Given the description of an element on the screen output the (x, y) to click on. 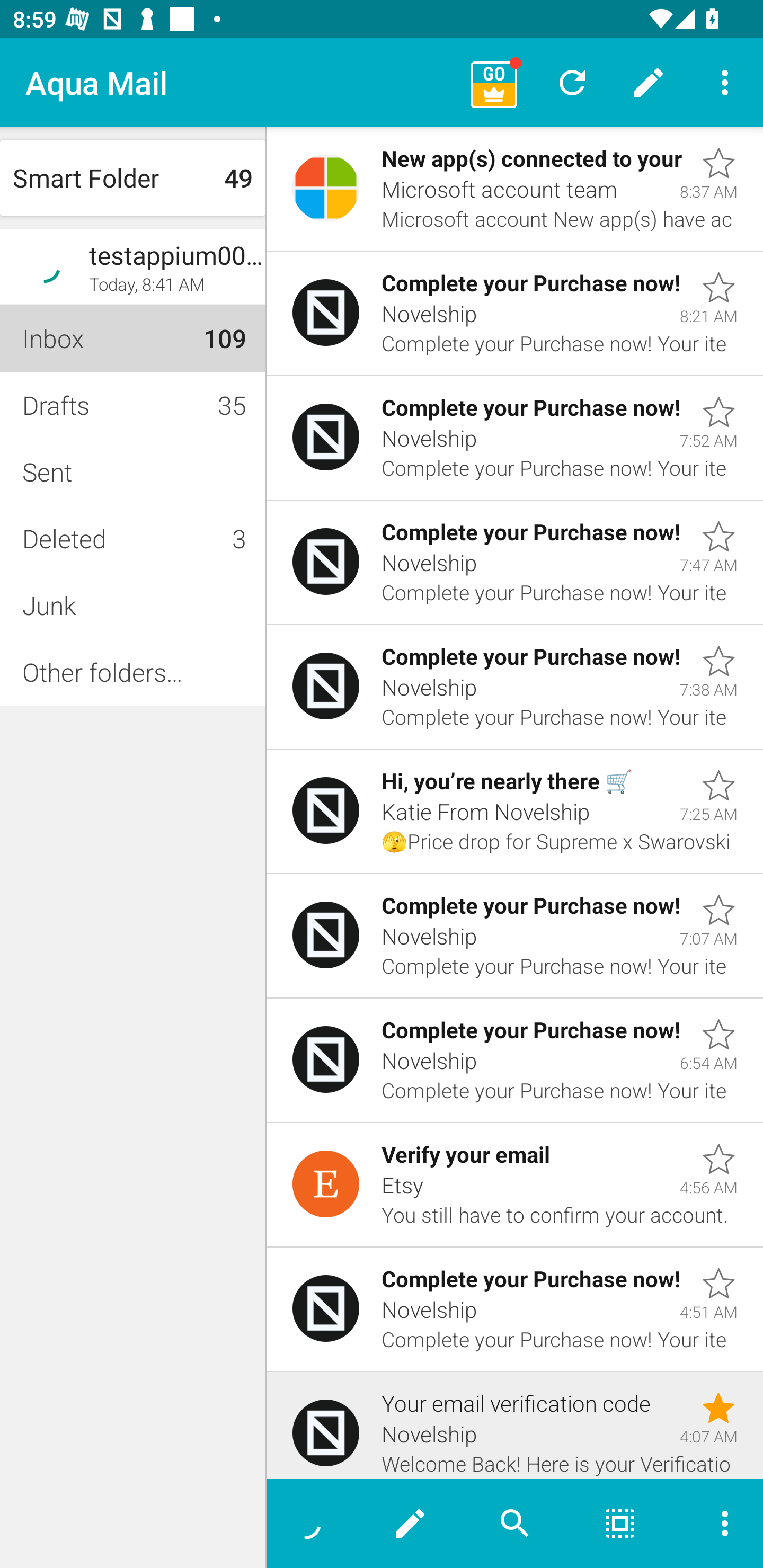
Refresh all (572, 82)
New message (648, 82)
More options (724, 81)
Smart Folder 49 49 unread, 50 total messages (132, 177)
Sent Folder: Sent 24 total messages (132, 471)
Deleted Folder: Deleted 3 3 total messages (132, 538)
Junk Folder: Junk 0 total messages (132, 605)
Other folders… (132, 671)
New message (409, 1523)
Search (514, 1523)
Select all (619, 1523)
More options (717, 1522)
